Given the description of an element on the screen output the (x, y) to click on. 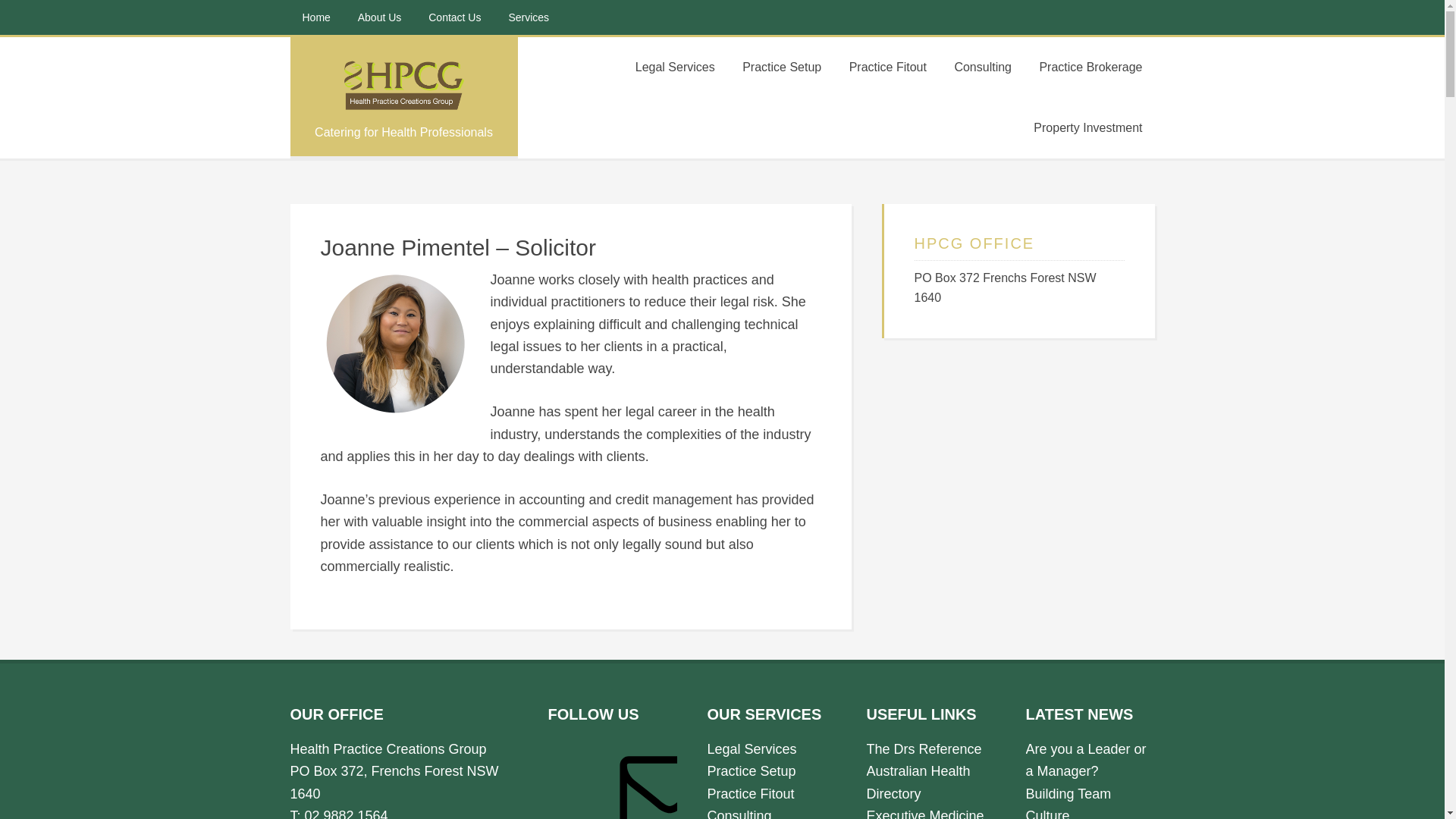
Practice Brokerage Element type: text (1090, 67)
Practice Setup Element type: text (781, 67)
Services Element type: text (528, 17)
Legal Services Element type: text (751, 748)
Australian Health Directory Element type: text (917, 781)
Contact Us Element type: text (454, 17)
About Us Element type: text (379, 17)
Consulting Element type: text (982, 67)
Practice Fitout Element type: text (887, 67)
Practice Setup Element type: text (750, 770)
Are you a Leader or a Manager? Element type: text (1085, 759)
Legal Services Element type: text (675, 67)
Practice Fitout Element type: text (749, 792)
The Drs Reference Element type: text (923, 748)
Property Investment Element type: text (1087, 127)
Home Element type: text (315, 17)
